Given the description of an element on the screen output the (x, y) to click on. 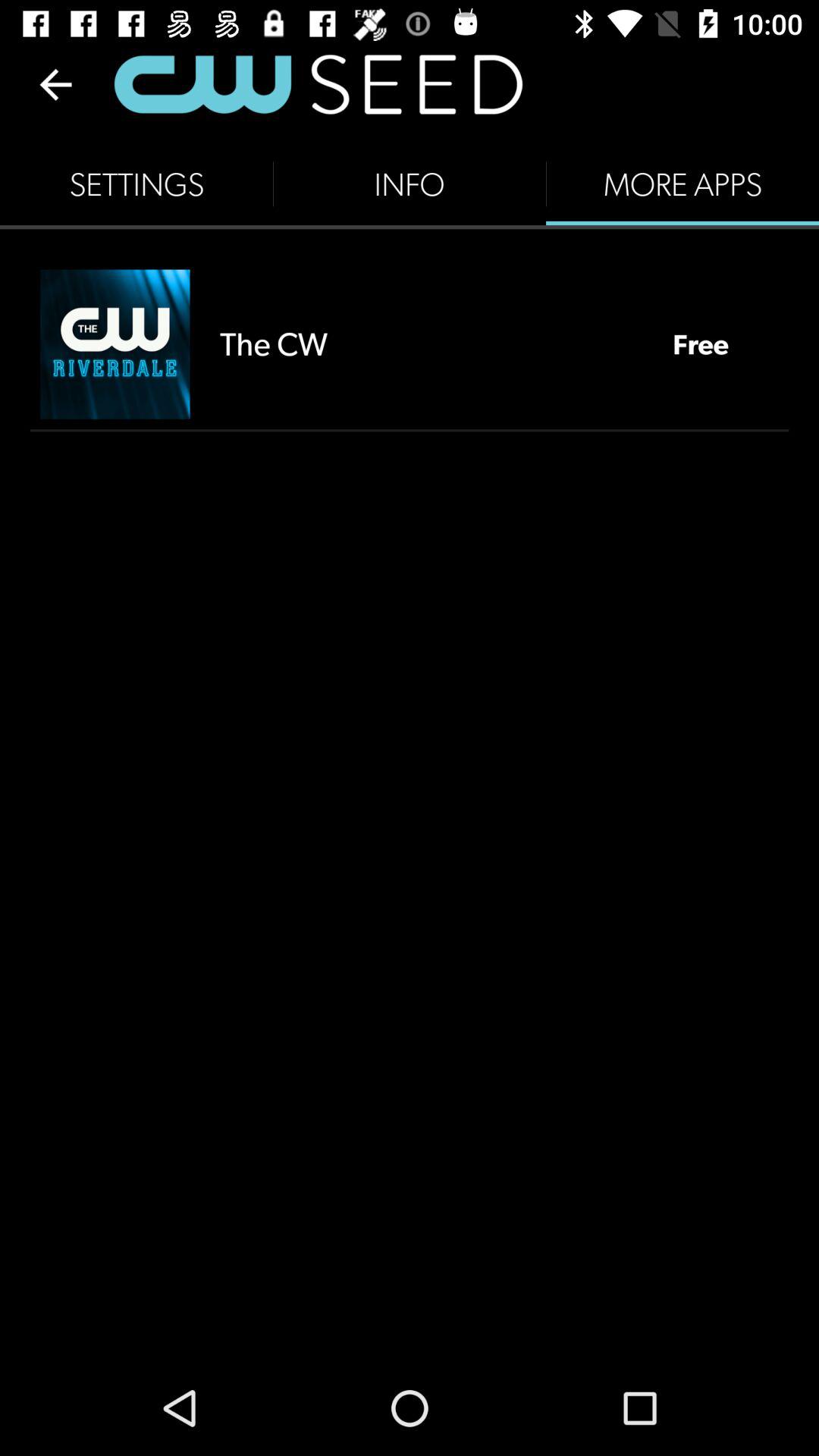
turn on icon next to info icon (136, 184)
